Given the description of an element on the screen output the (x, y) to click on. 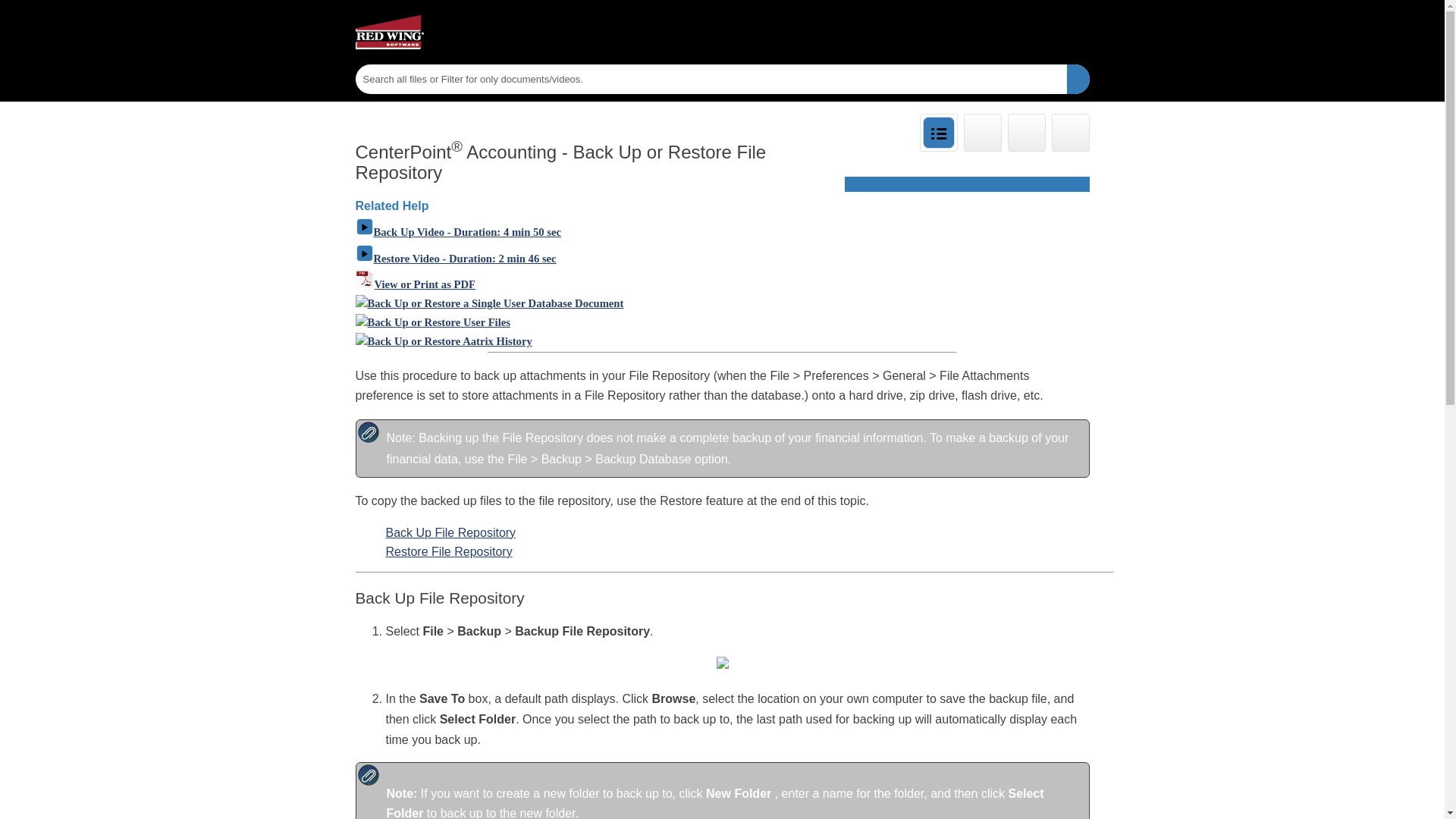
Back Up or Restore a Single User Database Document (489, 303)
Restore Video - Duration: 2 min 46 sec (455, 258)
Back Up or Restore Aatrix History (443, 340)
Back Up or Restore User Files (432, 322)
Back Up Video - Duration: 4 min 50 sec (457, 232)
Print (981, 132)
Restore File Repository (448, 551)
Copy URL (1070, 132)
Training Options (1026, 132)
Expand all (937, 132)
